Given the description of an element on the screen output the (x, y) to click on. 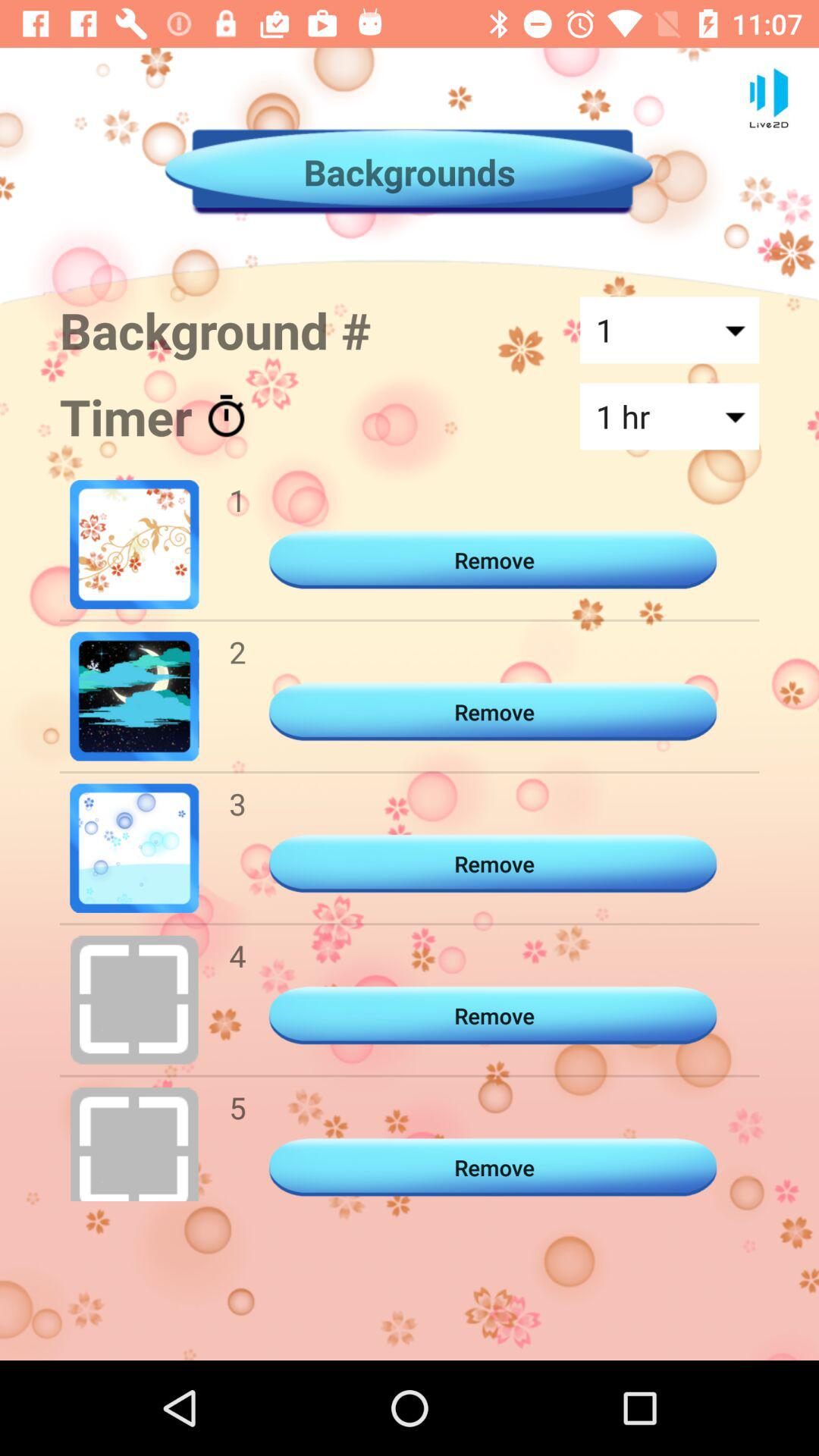
turn off the icon below the 3 (237, 955)
